Given the description of an element on the screen output the (x, y) to click on. 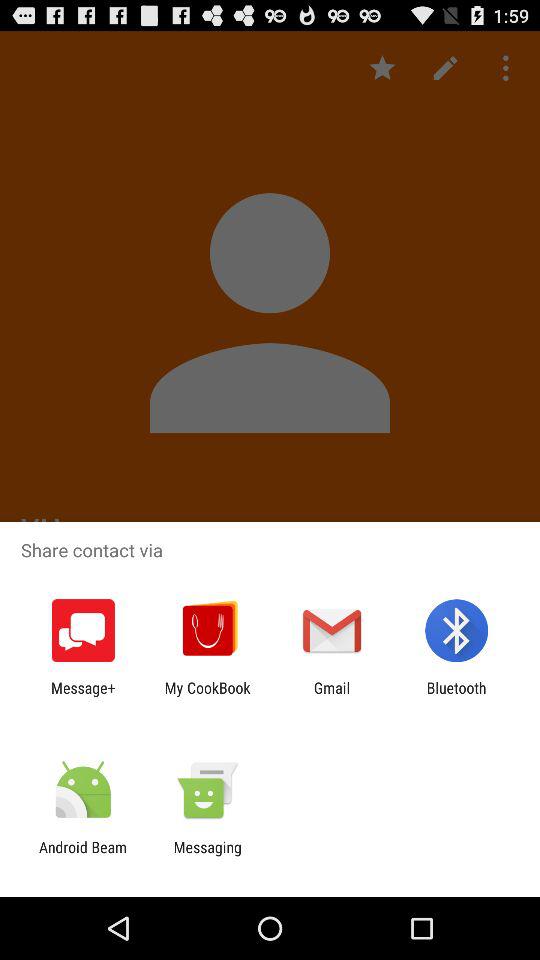
select the app next to the bluetooth app (331, 696)
